Given the description of an element on the screen output the (x, y) to click on. 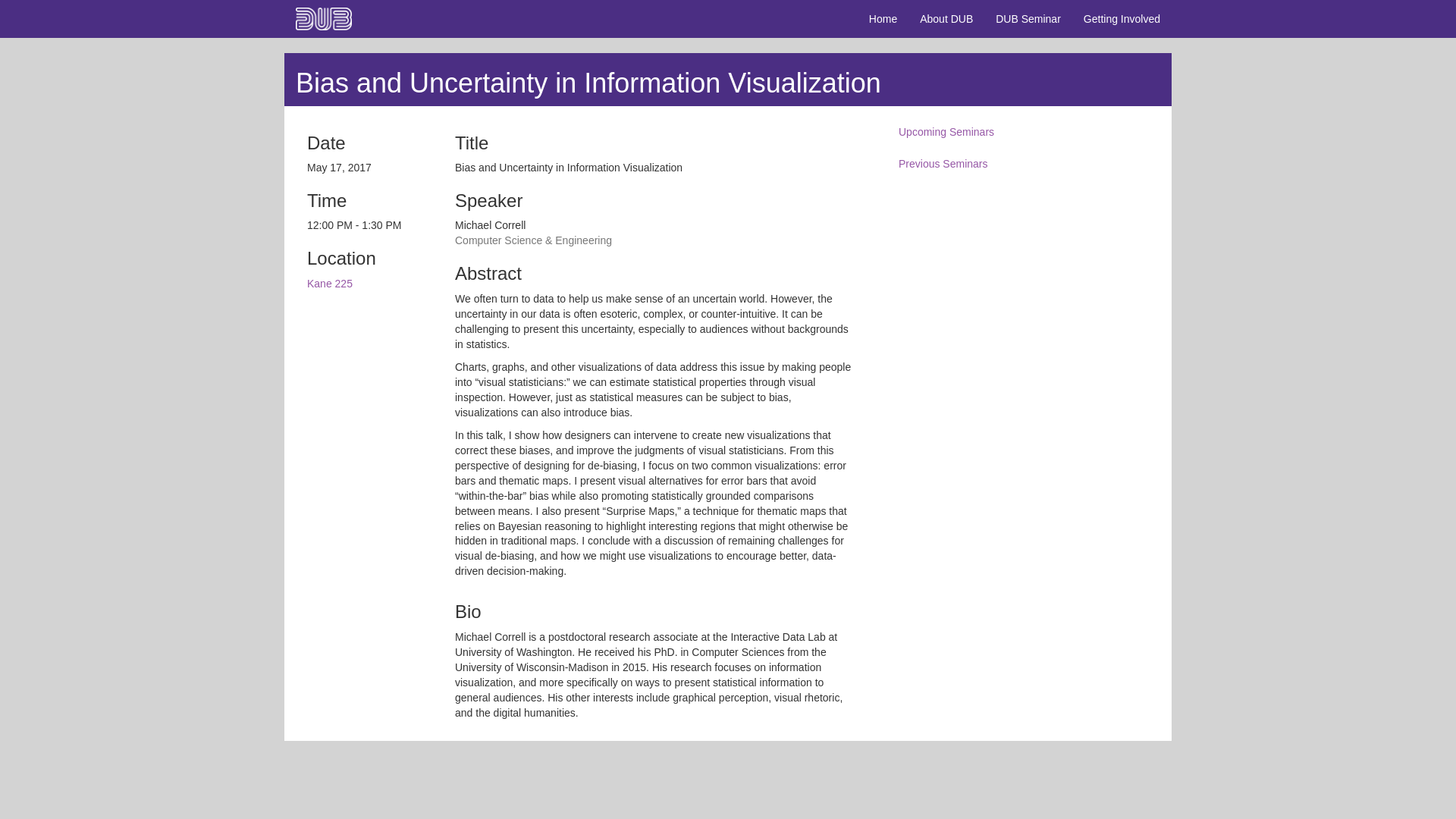
Previous Seminars (1023, 164)
Getting Involved (1121, 18)
Upcoming Seminars (1023, 132)
Home (882, 18)
Kane 225 (329, 283)
DUB Seminar (1027, 18)
About DUB (946, 18)
